Given the description of an element on the screen output the (x, y) to click on. 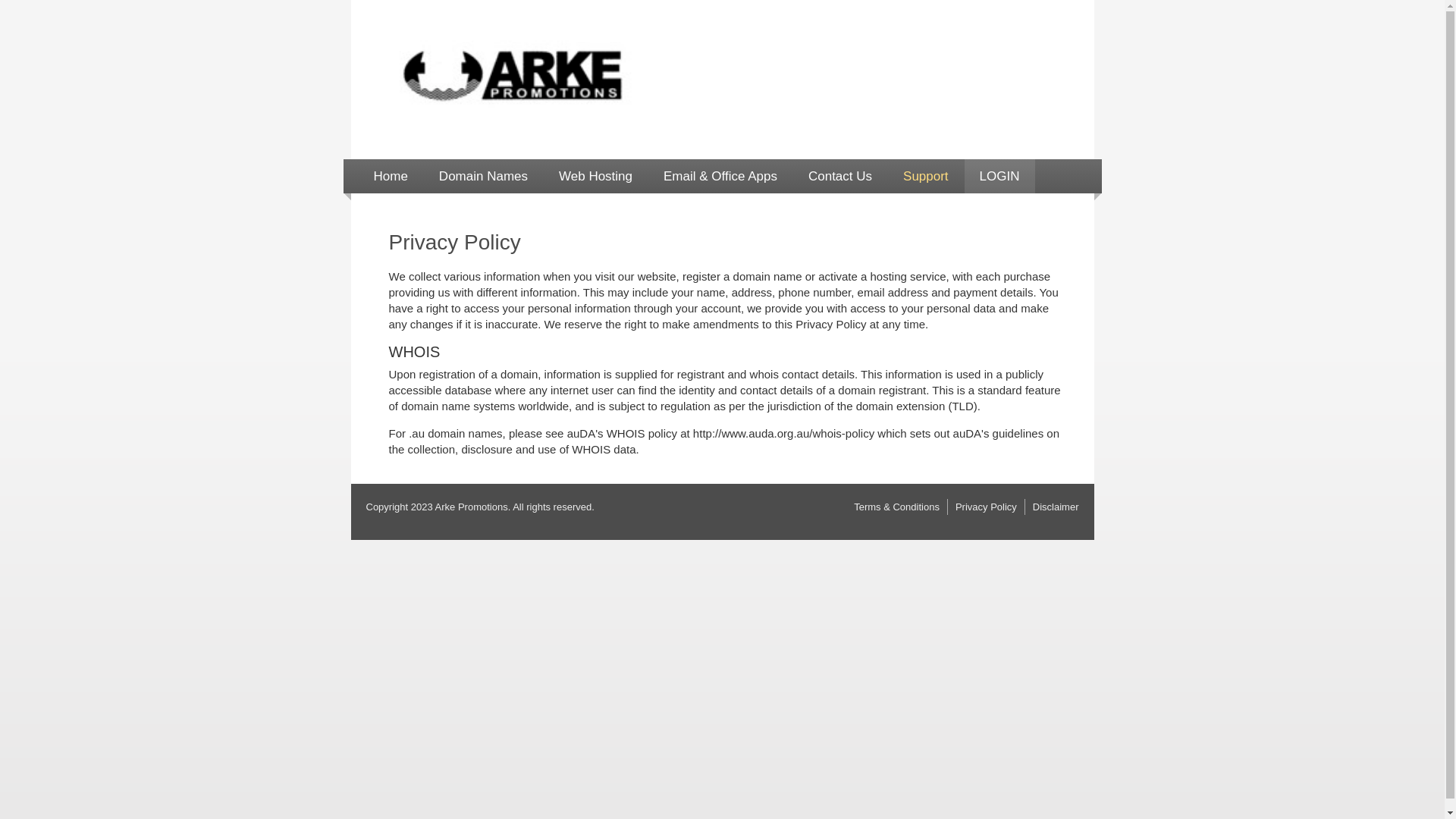
Home Element type: text (389, 176)
Contact Us Element type: text (840, 176)
Email & Office Apps Element type: text (720, 176)
Privacy Policy Element type: text (985, 506)
LOGIN Element type: text (999, 176)
Disclaimer Element type: text (1055, 506)
Support Element type: text (925, 176)
Terms & Conditions Element type: text (896, 506)
Web Hosting Element type: text (595, 176)
Domain Names Element type: text (482, 176)
